Given the description of an element on the screen output the (x, y) to click on. 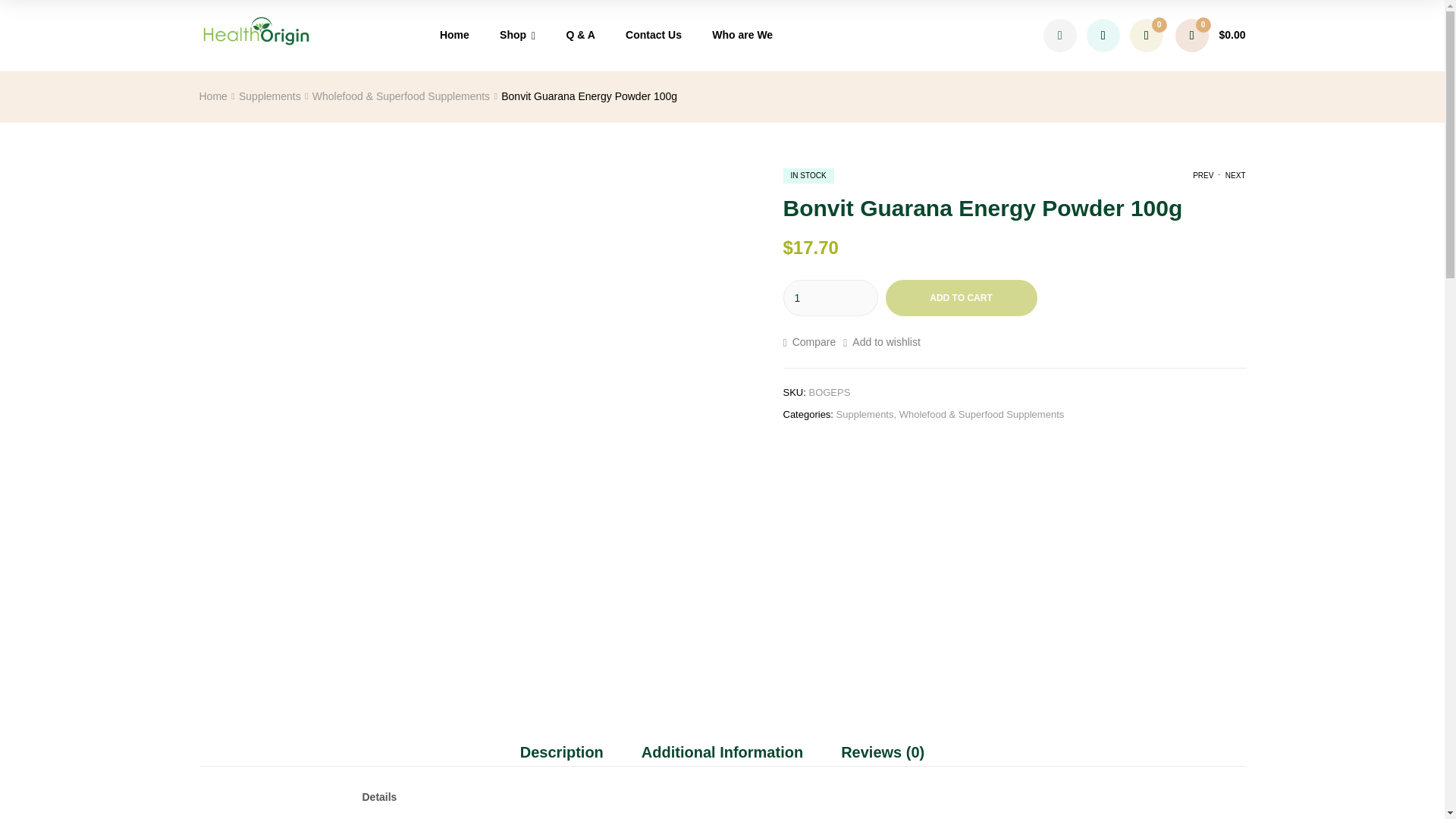
Shop (518, 35)
1 (830, 298)
View your shopping cart (1210, 35)
Home (454, 35)
